Given the description of an element on the screen output the (x, y) to click on. 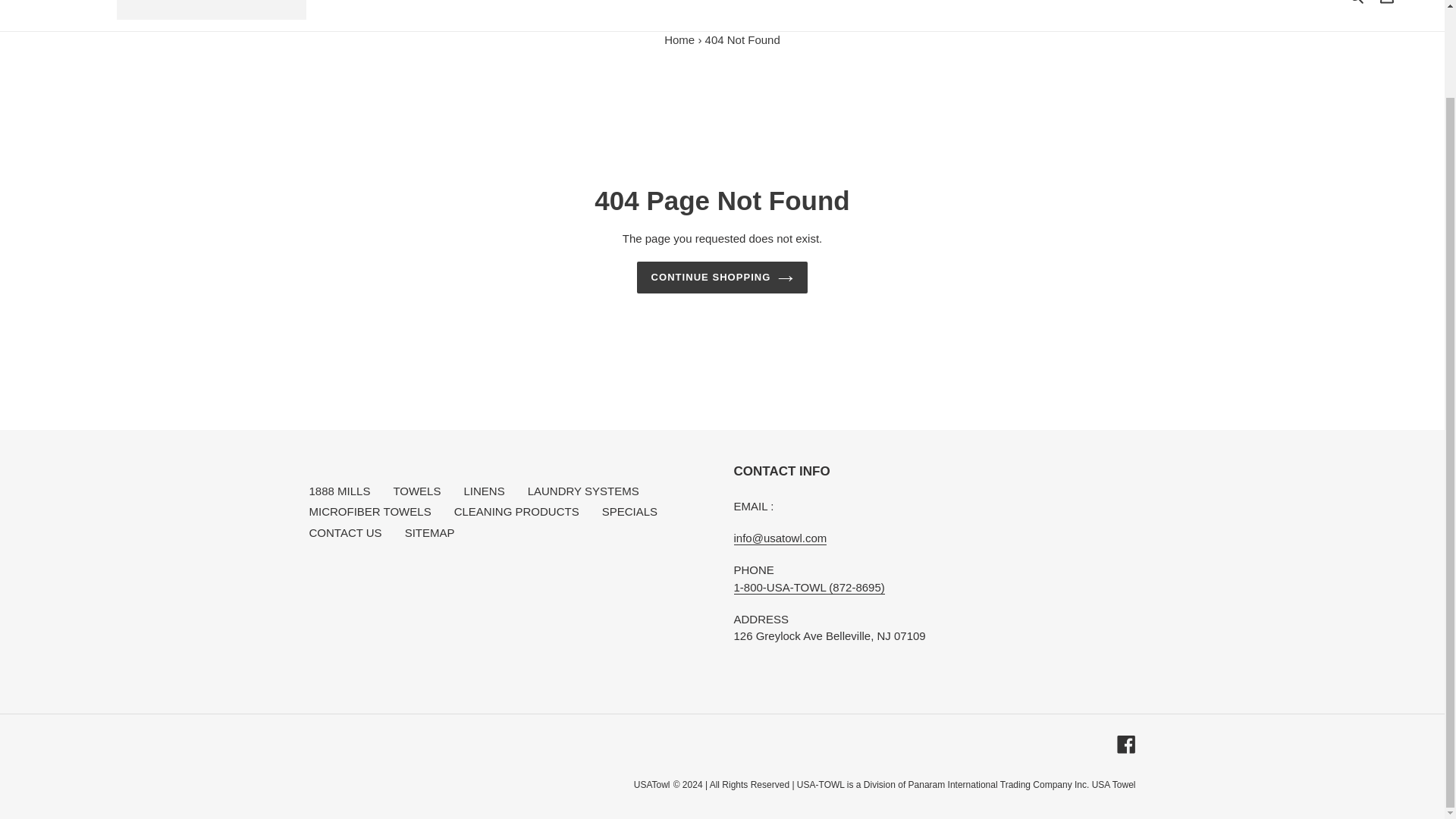
Home (678, 38)
LINENS (559, 3)
CLEANING SOLUTIONS (673, 3)
SHOP BY INDUSTRY (823, 3)
TOWELS (486, 3)
